Given the description of an element on the screen output the (x, y) to click on. 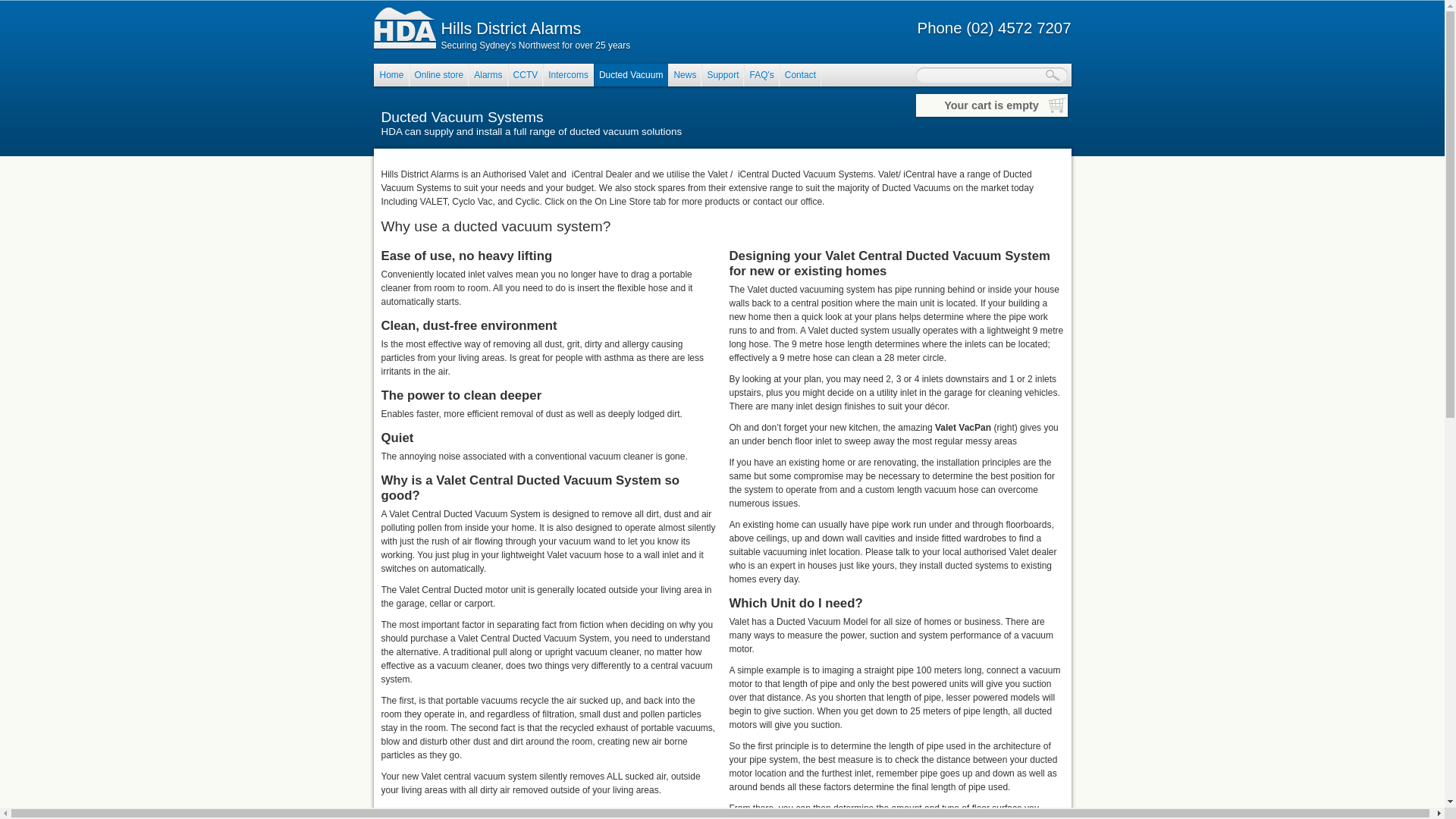
Hills District Alarms Element type: text (511, 27)
Intercoms Element type: text (567, 74)
Online store Element type: text (439, 74)
Ducted Vacuum Element type: text (630, 74)
Home Element type: text (391, 74)
FAQ's Element type: text (760, 74)
Support Element type: text (722, 74)
Contact Element type: text (800, 74)
Securing Sydney's Northwest for over 25 years Element type: text (535, 45)
CCTV Element type: text (525, 74)
News Element type: text (684, 74)
Alarms Element type: text (487, 74)
Search Hills District Alarms Element type: hover (1055, 74)
